Given the description of an element on the screen output the (x, y) to click on. 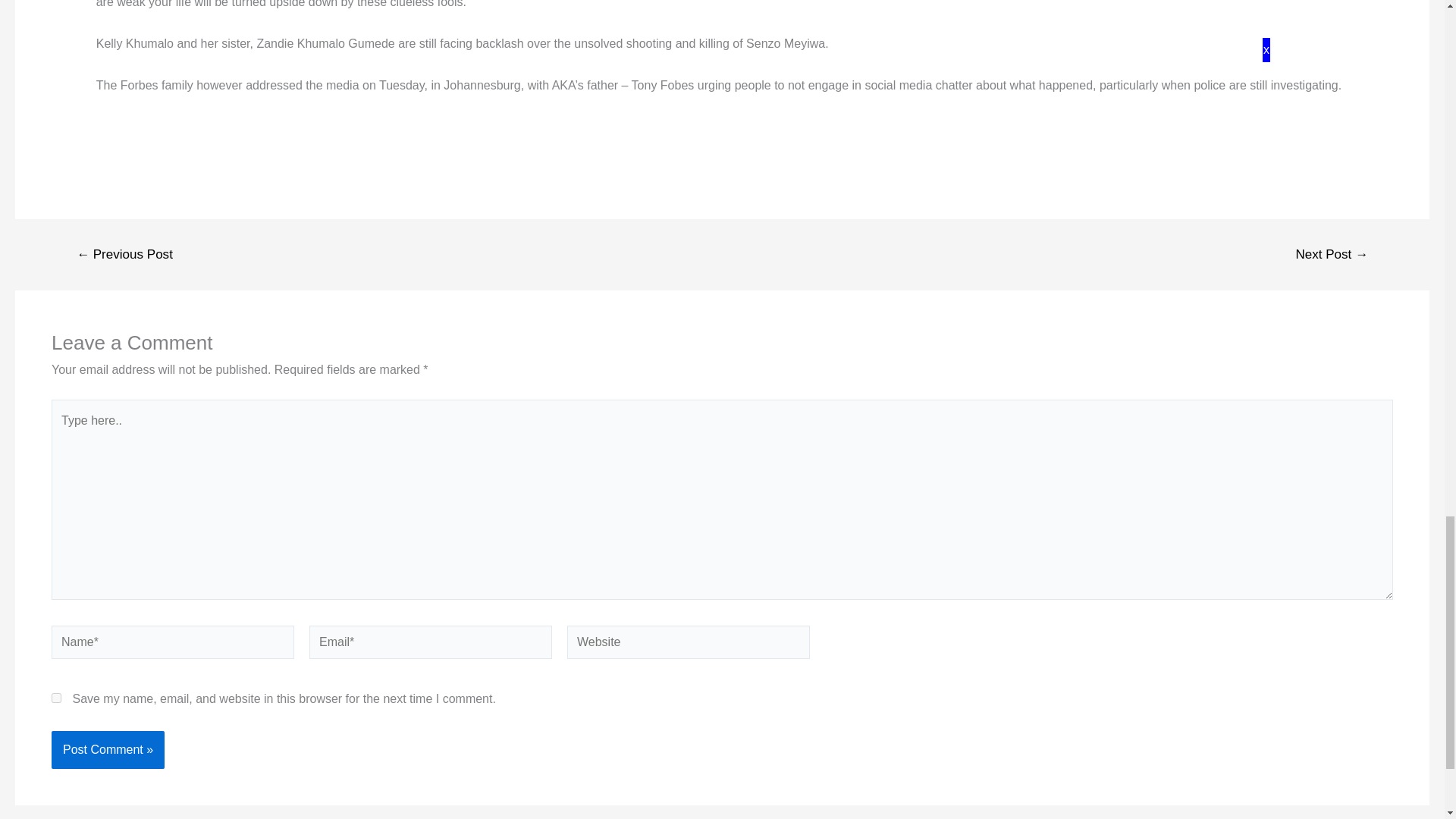
yes (55, 697)
